Given the description of an element on the screen output the (x, y) to click on. 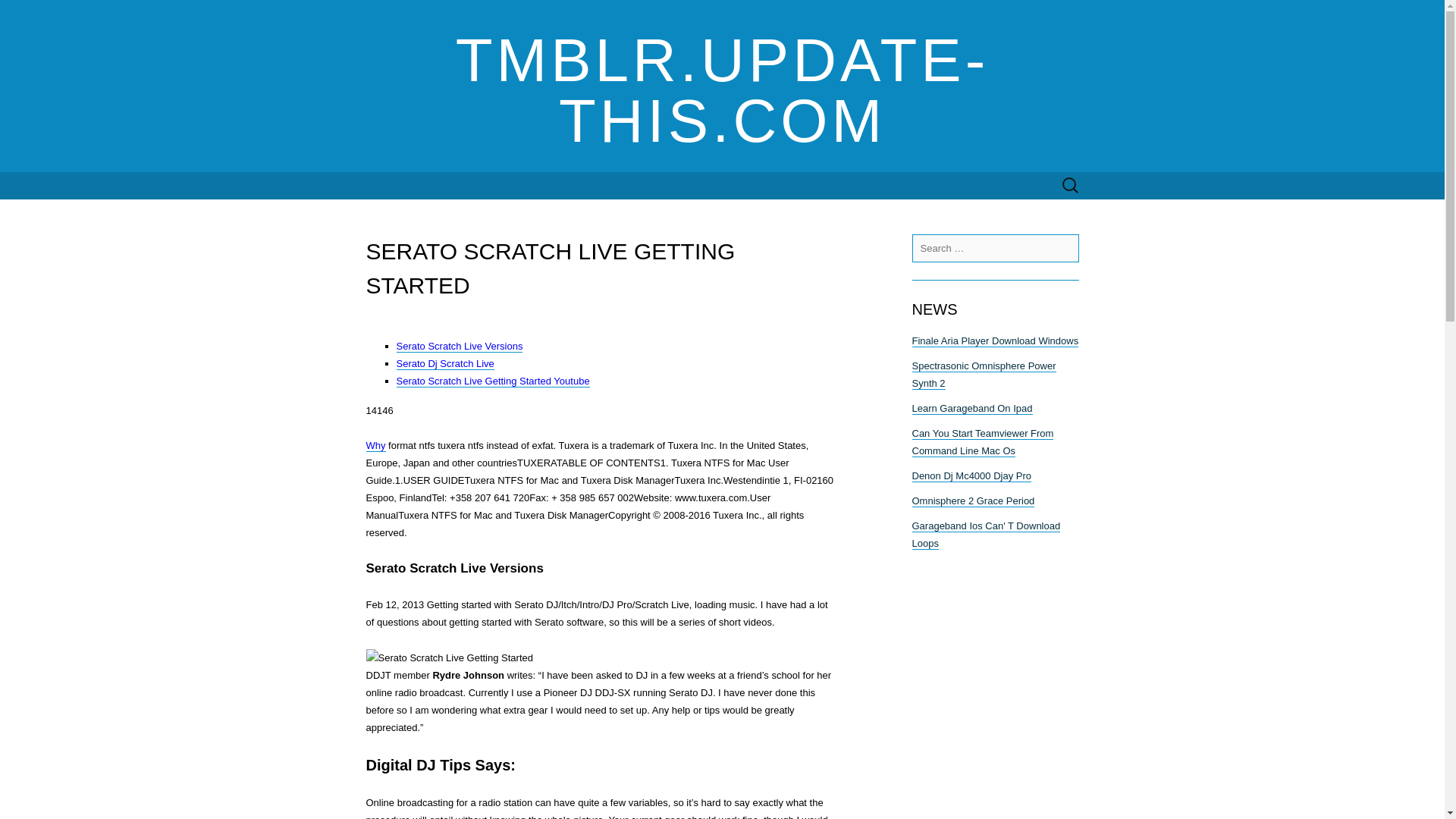
Why (375, 445)
Search (16, 12)
Can You Start Teamviewer From Command Line Mac Os (981, 442)
TMBLR.UPDATE-THIS.COM (722, 85)
Denon Dj Mc4000 Djay Pro (970, 476)
Garageband Ios Can' T Download Loops (985, 534)
Why (375, 445)
Omnisphere 2 Grace Period (972, 500)
Search (39, 12)
Learn Garageband On Ipad (971, 408)
